Given the description of an element on the screen output the (x, y) to click on. 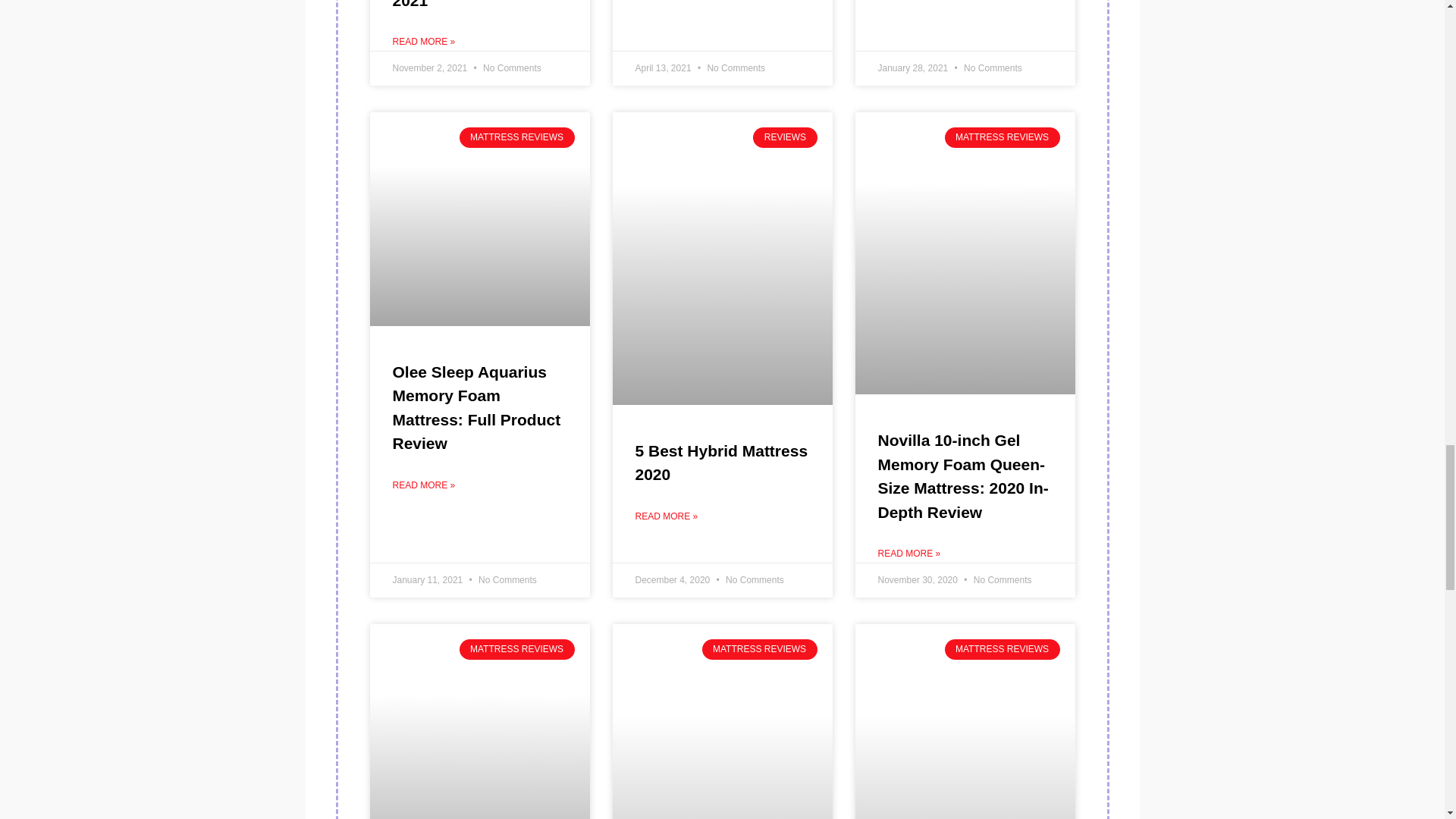
5 Best Hybrid Mattress 2020 (721, 463)
